Given the description of an element on the screen output the (x, y) to click on. 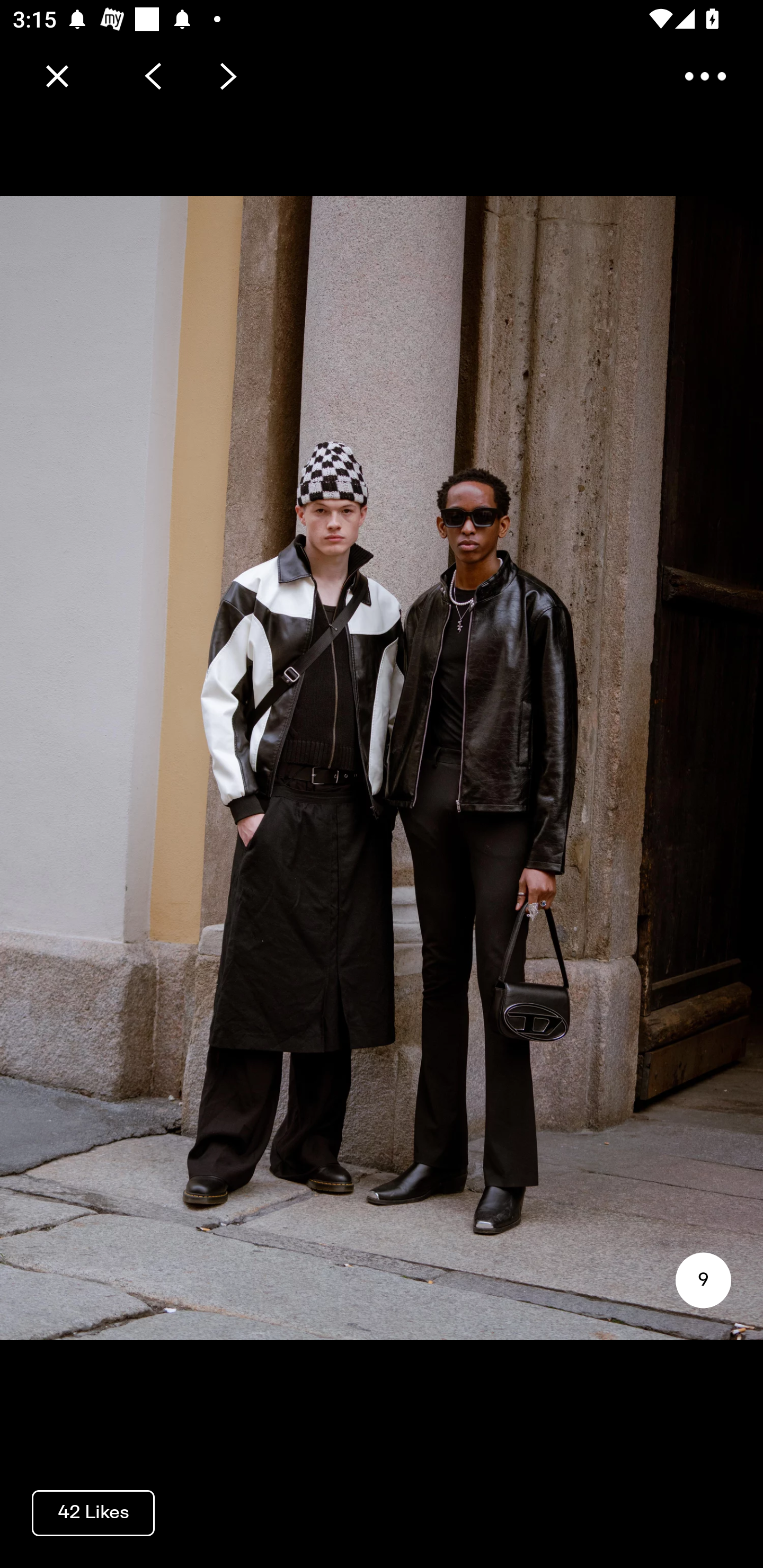
9 (702, 1279)
42 Likes (93, 1512)
